Given the description of an element on the screen output the (x, y) to click on. 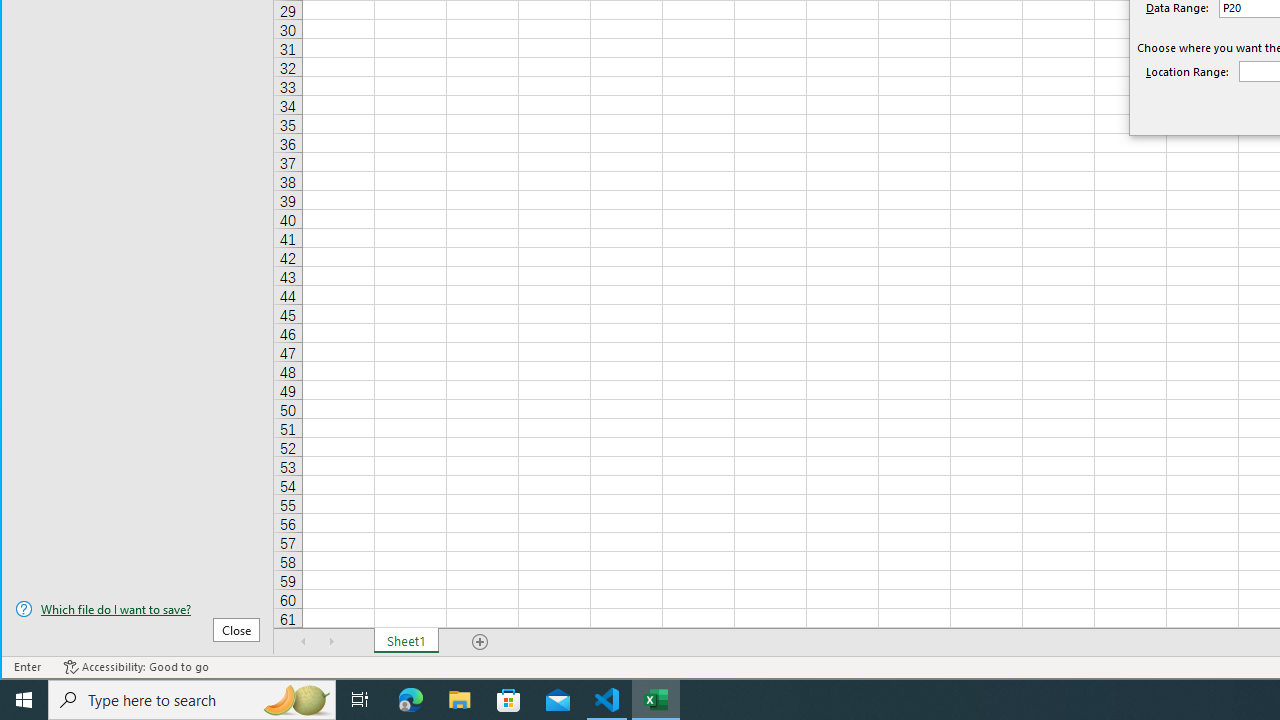
Which file do I want to save? (137, 609)
